Given the description of an element on the screen output the (x, y) to click on. 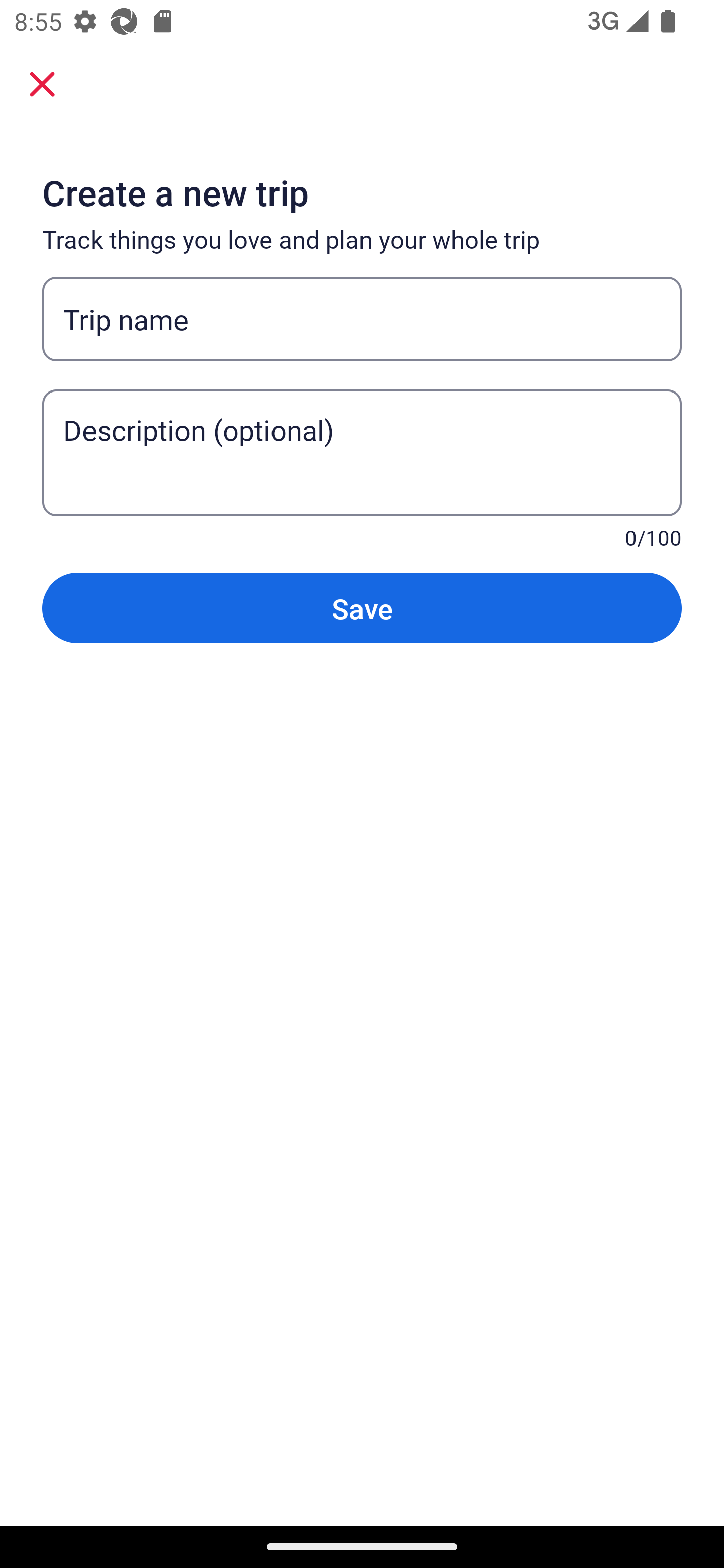
Close (41, 83)
Trip name (361, 318)
Save Button Save (361, 607)
